Given the description of an element on the screen output the (x, y) to click on. 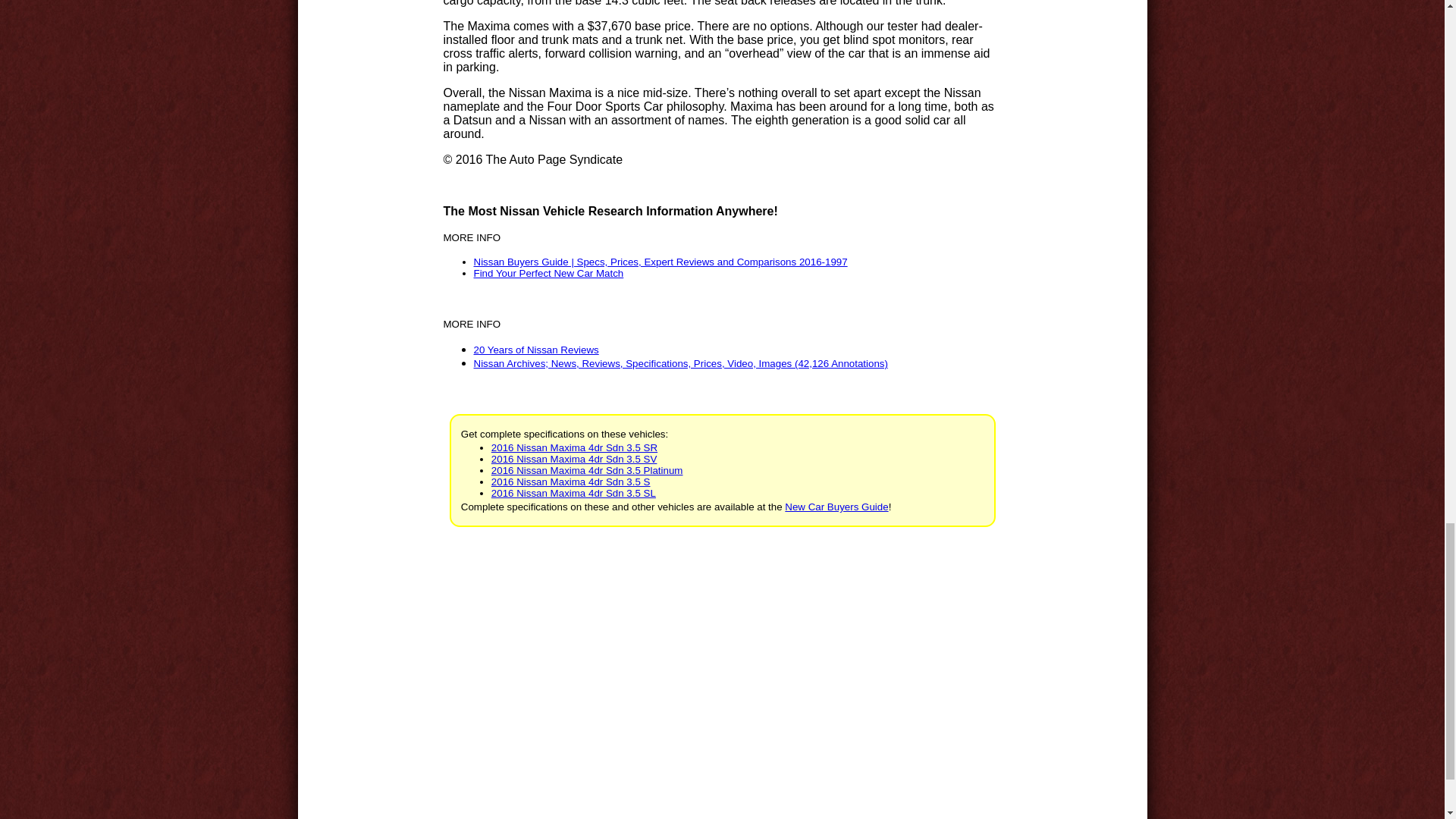
2016 Nissan Maxima 4dr Sdn 3.5 SL (574, 492)
2016 Nissan Maxima 4dr Sdn 3.5 S (571, 481)
2016 Nissan Maxima 4dr Sdn 3.5 SV (575, 459)
2016 Nissan Maxima 4dr Sdn 3.5 Platinum (587, 470)
20 Years of Nissan Reviews (535, 349)
2016 Nissan Maxima 4dr Sdn 3.5 SR (575, 447)
Find Your Perfect New Car Match (548, 273)
